Given the description of an element on the screen output the (x, y) to click on. 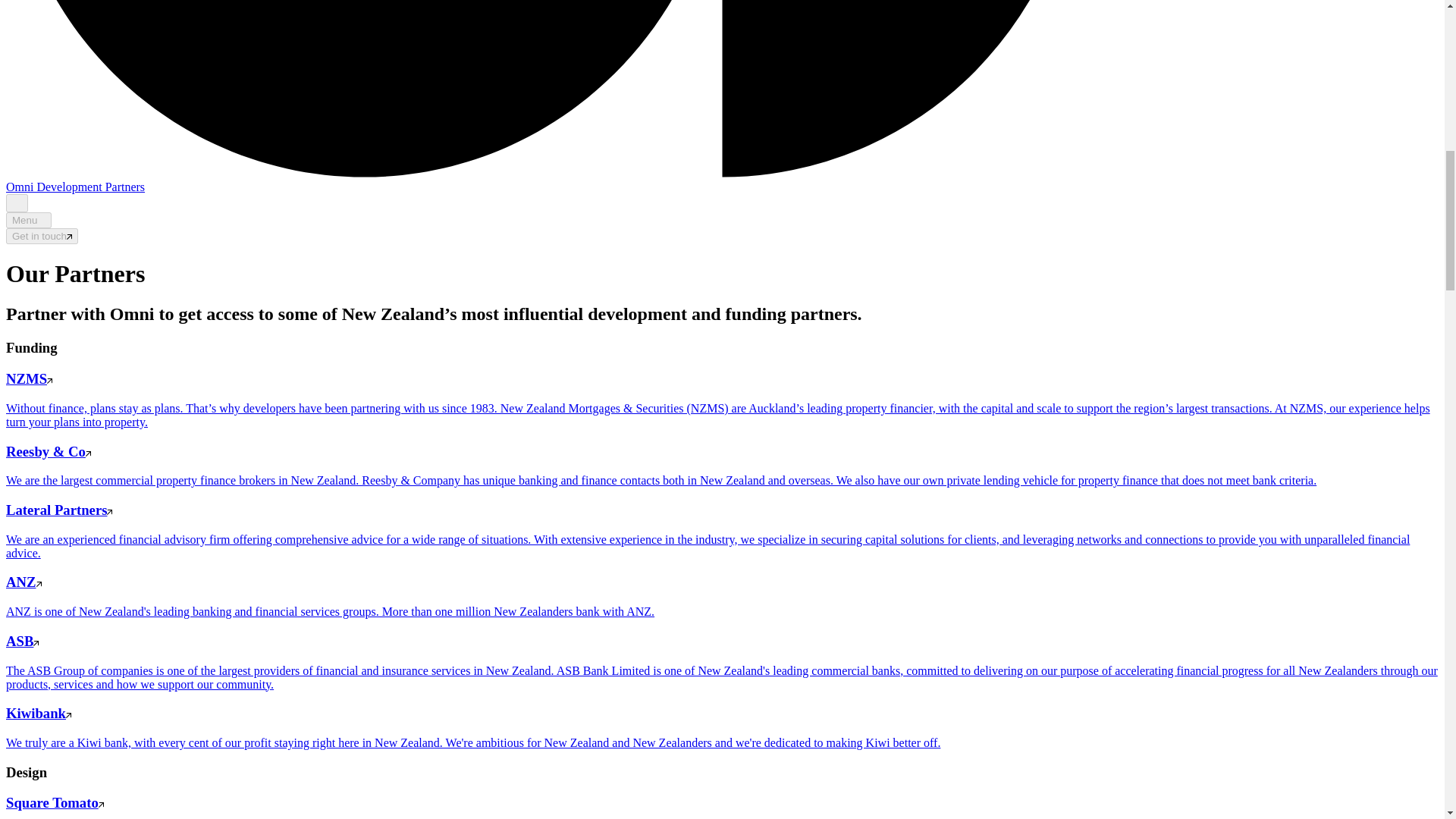
Get in touch (41, 236)
Omni Development Partners (74, 186)
Omni Development Partners (74, 186)
Menu (27, 220)
